Given the description of an element on the screen output the (x, y) to click on. 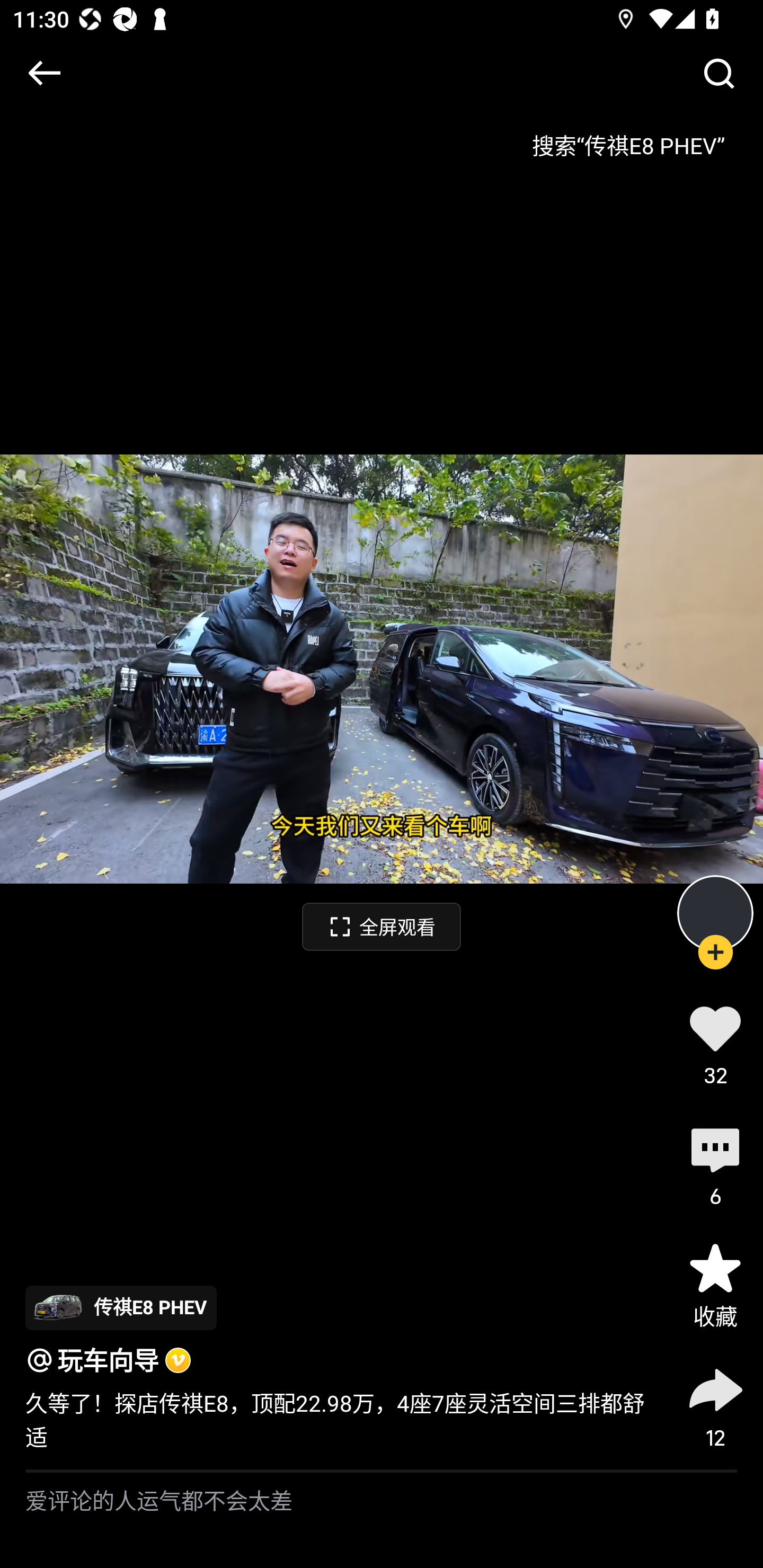
 (44, 72)
 (718, 72)
搜索“传祺E8 PHEV” (628, 139)
 全屏观看 (381, 926)
6 (715, 1164)
收藏 (715, 1284)
传祺E8 PHEV (120, 1307)
玩车向导 (107, 1360)
12 (715, 1405)
久等了！探店传祺E8，顶配22.98万，4座7座灵活空间三排都舒适 (336, 1419)
爱评论的人运气都不会太差 (381, 1520)
